Given the description of an element on the screen output the (x, y) to click on. 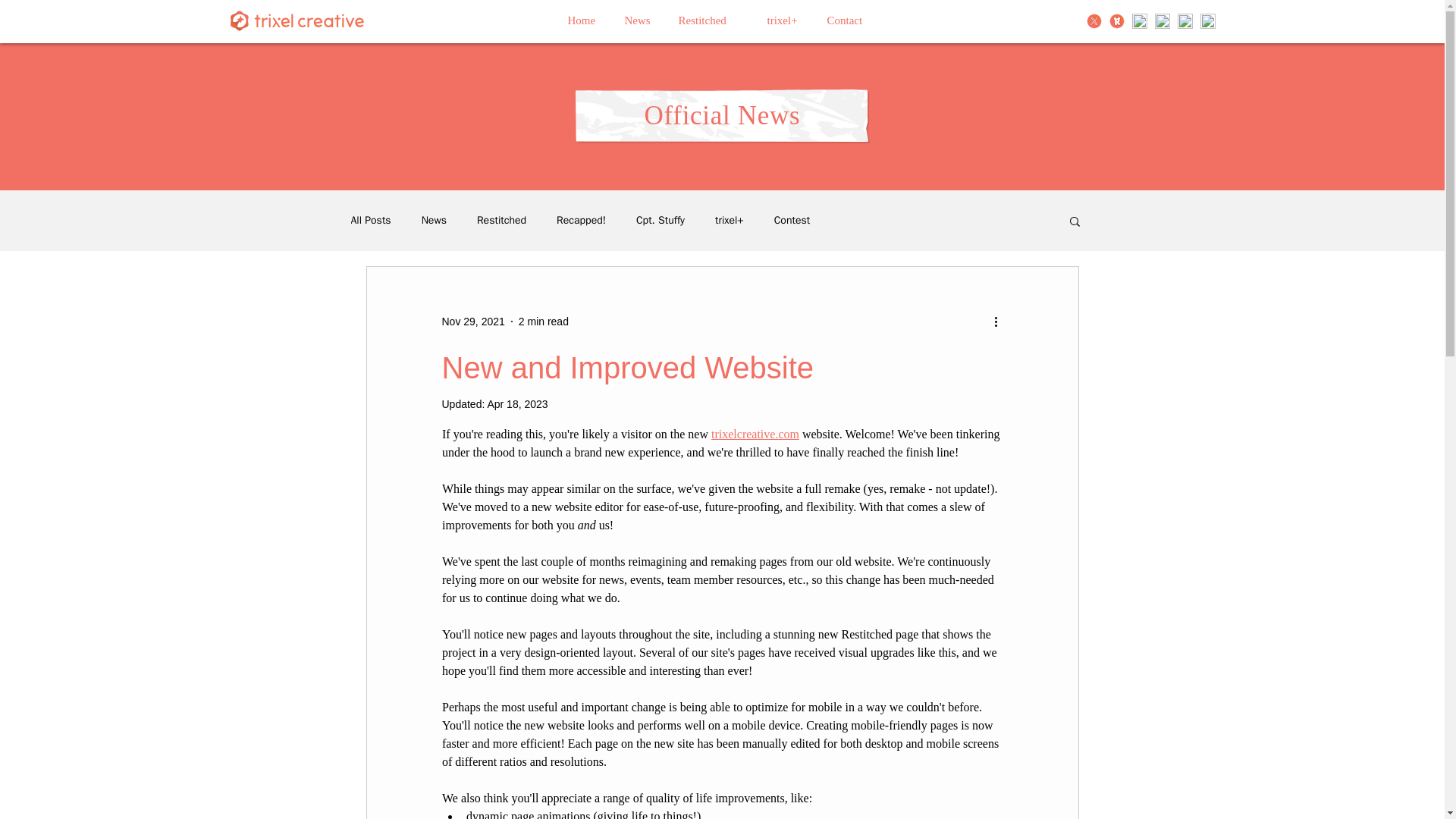
Contact (851, 20)
Recapped! (580, 220)
Restitched (501, 220)
Nov 29, 2021 (472, 321)
News (434, 220)
Contest (792, 220)
Apr 18, 2023 (516, 404)
All Posts (370, 220)
Restitched (710, 20)
2 min read (543, 321)
News (639, 20)
trixelcreative.com (755, 433)
Home (584, 20)
Cpt. Stuffy (660, 220)
